Given the description of an element on the screen output the (x, y) to click on. 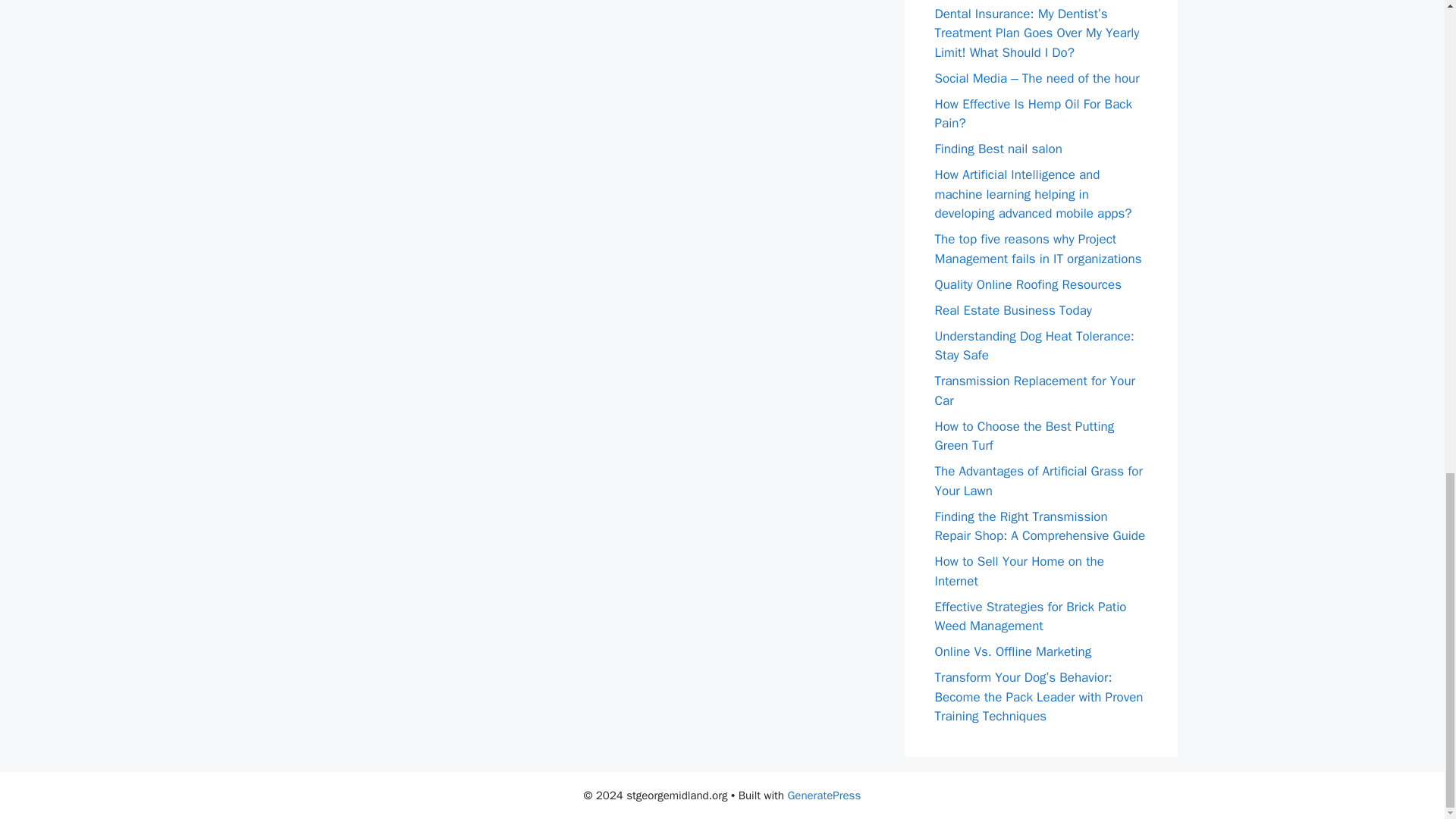
Real Estate Business Today (1012, 309)
Online Vs. Offline Marketing (1012, 651)
Effective Strategies for Brick Patio Weed Management (1029, 616)
How to Choose the Best Putting Green Turf (1023, 436)
How to Sell Your Home on the Internet (1018, 570)
Finding Best nail salon (997, 148)
How Effective Is Hemp Oil For Back Pain? (1032, 113)
Understanding Dog Heat Tolerance: Stay Safe (1034, 345)
